Given the description of an element on the screen output the (x, y) to click on. 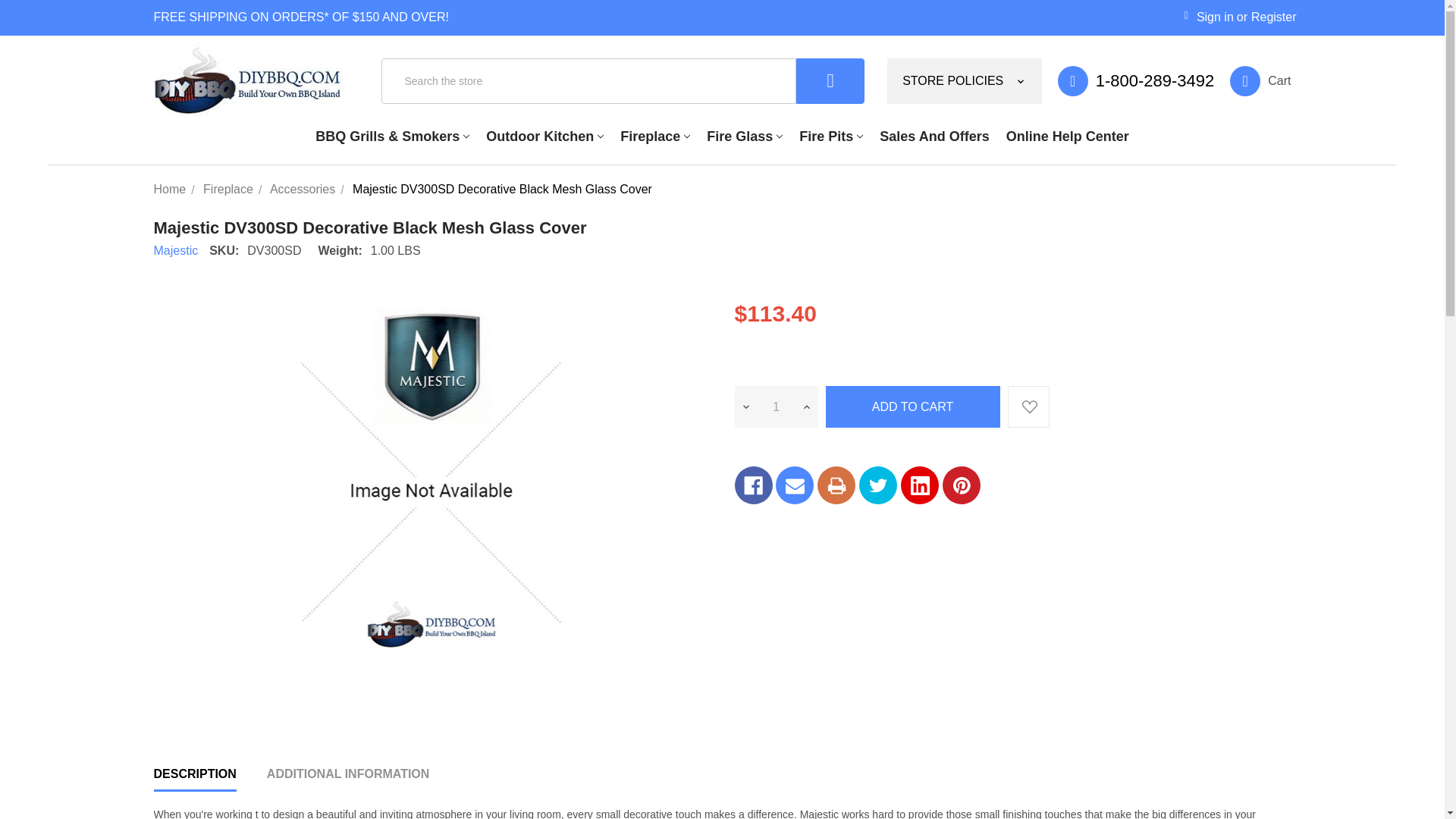
DIY BBQ LLC (247, 80)
Cart (1260, 81)
1 (775, 406)
Sign in (1208, 17)
Register (1273, 17)
Cart (1260, 81)
Add to Cart (911, 406)
SEARCH (830, 81)
1-800-289-3492 (1144, 81)
